Given the description of an element on the screen output the (x, y) to click on. 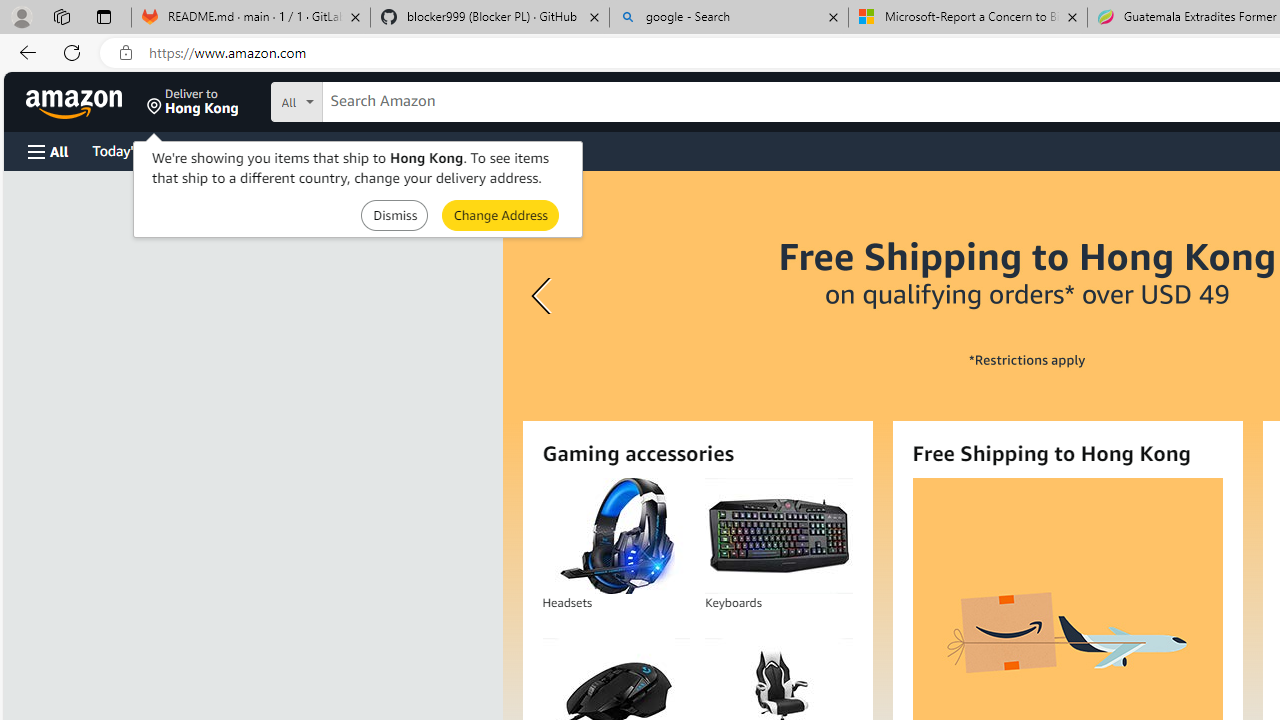
Headsets (616, 536)
Today's Deals (134, 150)
Skip to main content (86, 100)
Previous slide (544, 296)
Registry (360, 150)
Gift Cards (442, 150)
Keyboards (778, 536)
Headsets (615, 536)
Search in (371, 99)
Open Menu (48, 151)
